Given the description of an element on the screen output the (x, y) to click on. 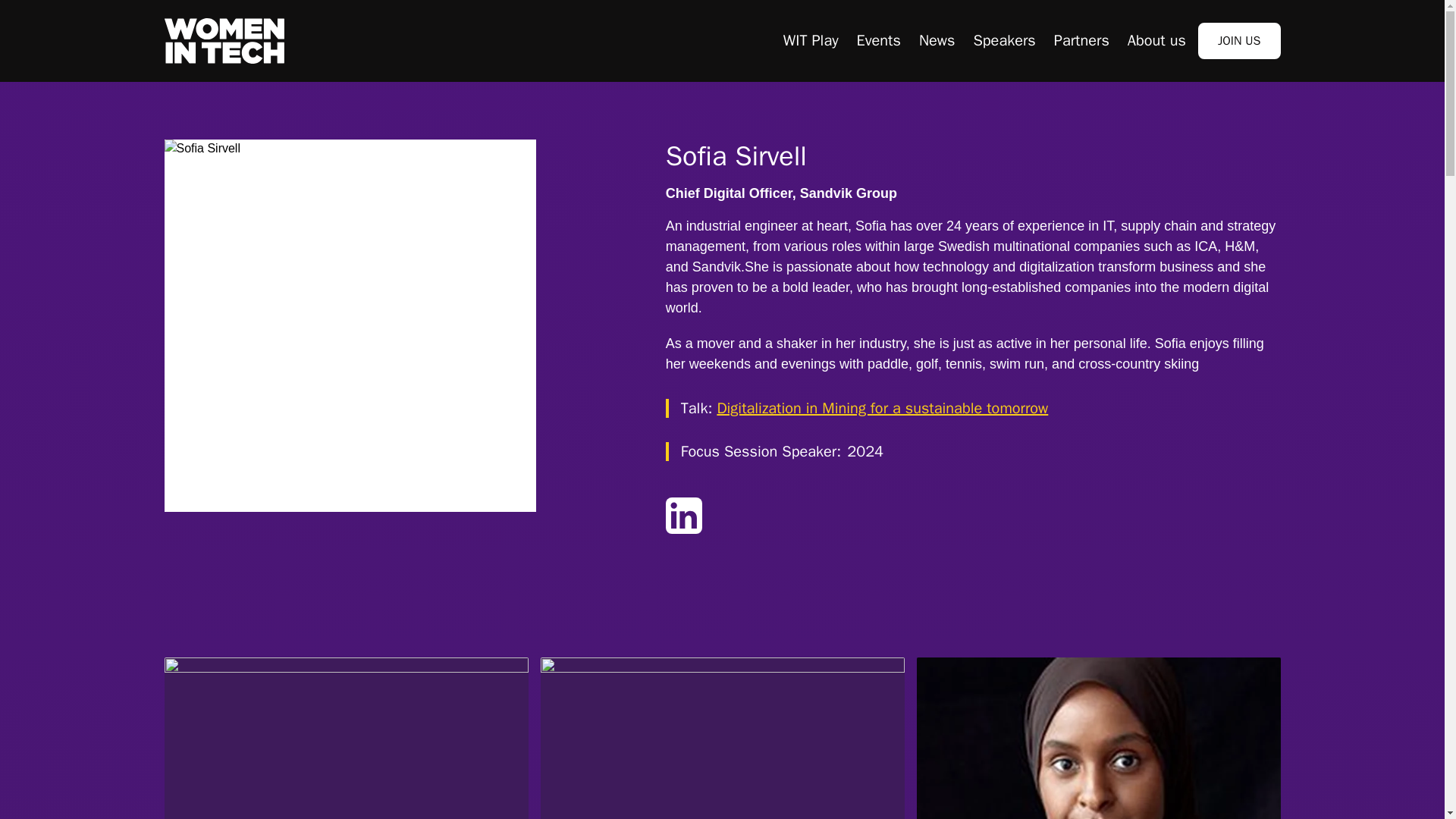
News (936, 40)
Deqa Abukar (1097, 738)
WIT Play (810, 40)
Digitalization in Mining for a sustainable tomorrow (882, 407)
About us (1156, 40)
Events (879, 40)
JOIN US (1239, 40)
Speakers (1003, 40)
Partners (1081, 40)
